Given the description of an element on the screen output the (x, y) to click on. 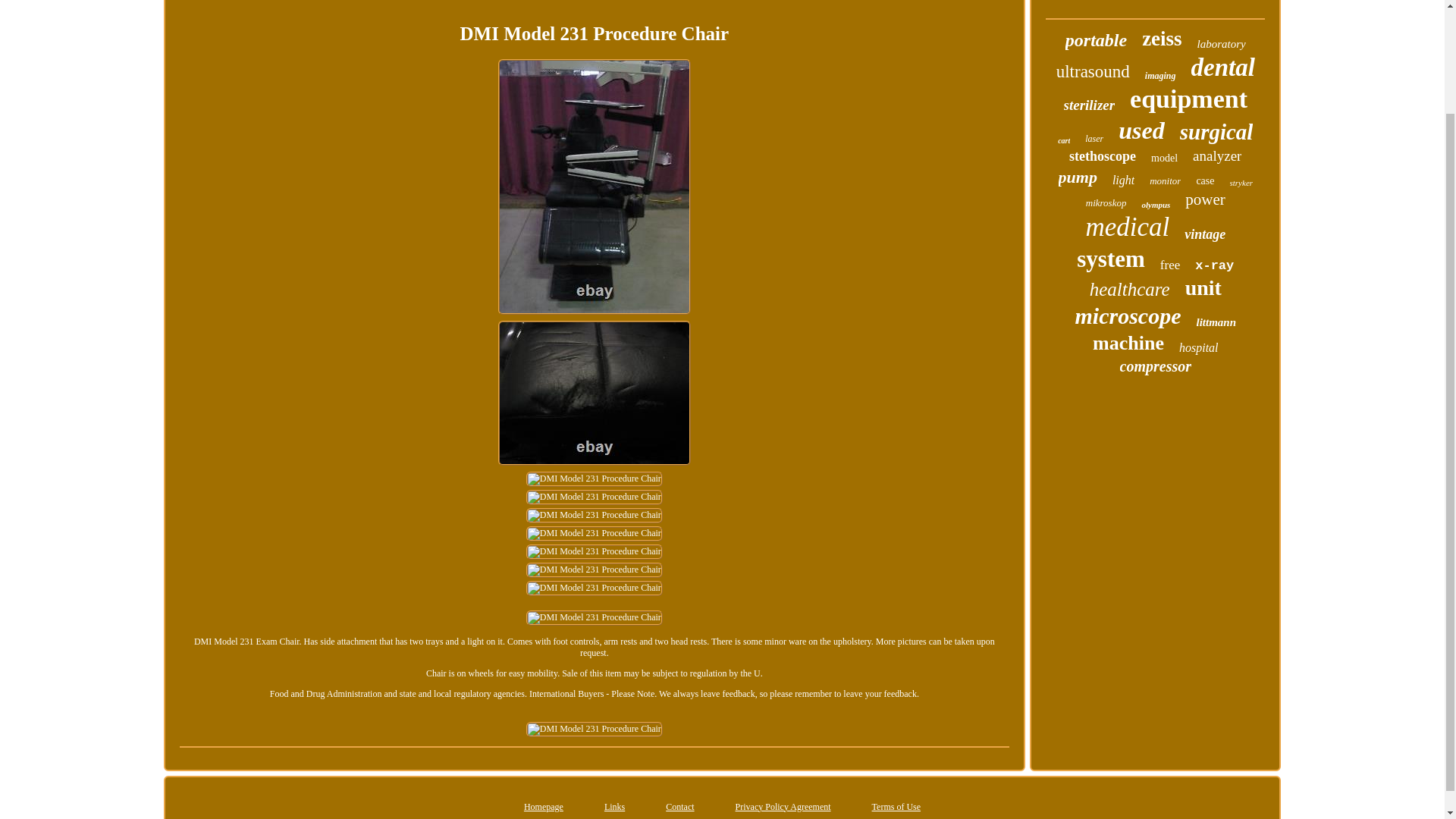
free (1169, 264)
laboratory (1221, 43)
medical (1126, 227)
olympus (1155, 204)
DMI Model 231 Procedure Chair (593, 533)
mikroskop (1106, 203)
x-ray (1214, 265)
dental (1223, 67)
DMI Model 231 Procedure Chair (593, 616)
stryker (1241, 182)
